Given the description of an element on the screen output the (x, y) to click on. 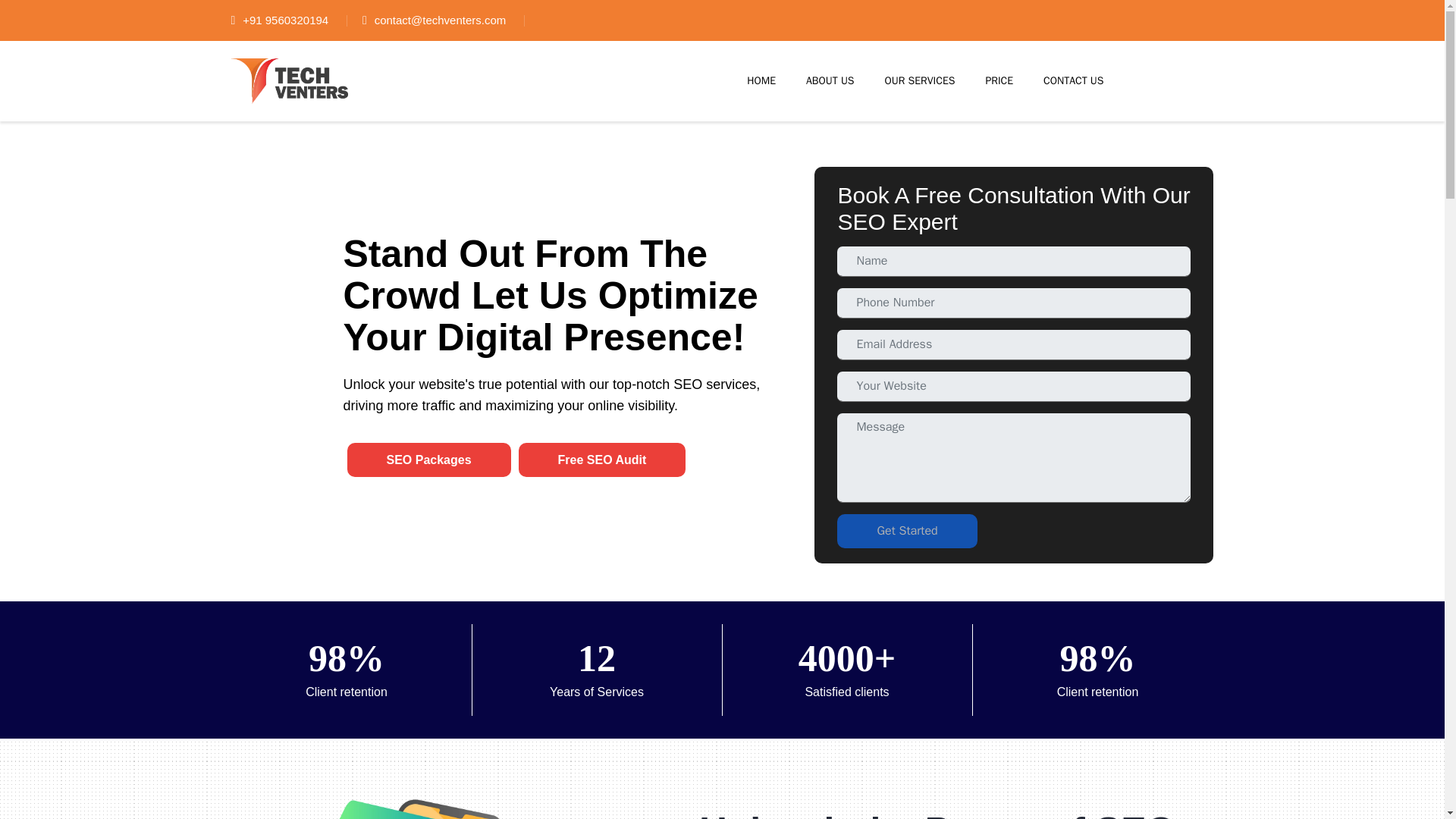
SEO Packages (429, 459)
Free SEO Audit (601, 459)
Get Started (906, 530)
Get Started (906, 530)
OUR SERVICES (919, 80)
OUR SERVICES (919, 80)
CONTACT US (1073, 80)
ABOUT US (830, 80)
CONTACT US (1073, 80)
ABOUT US (830, 80)
